Given the description of an element on the screen output the (x, y) to click on. 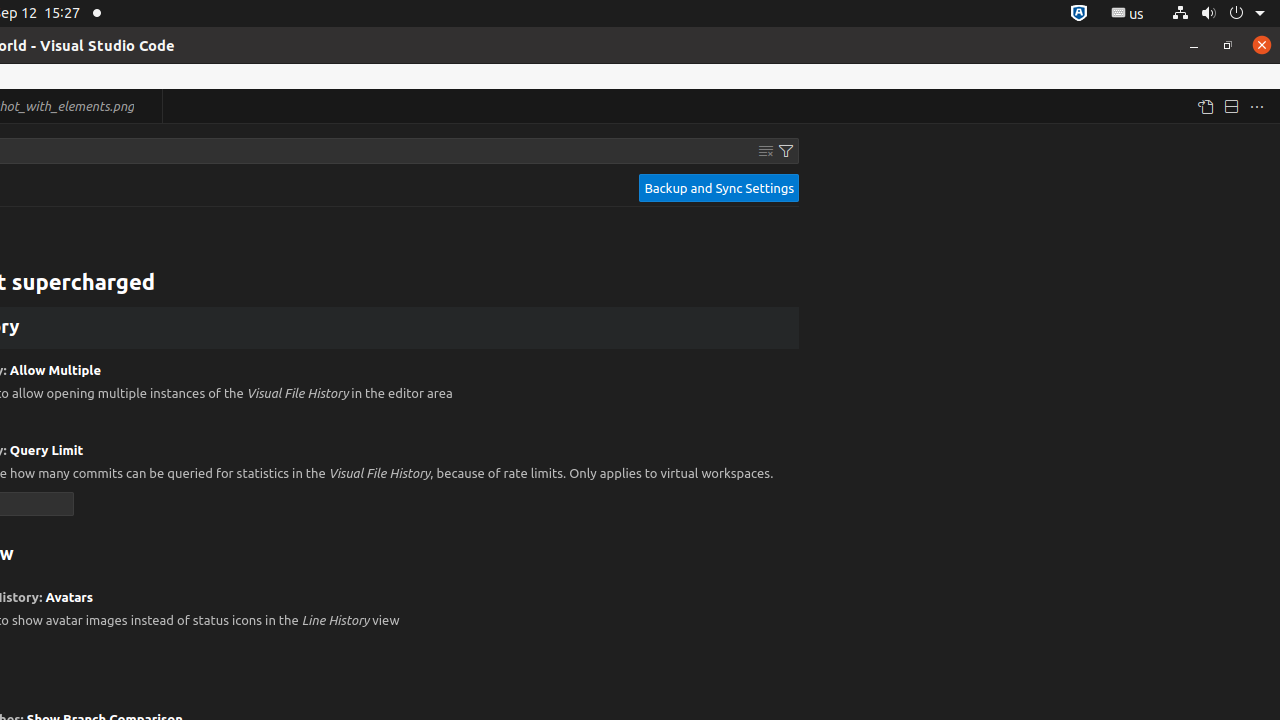
Split Editor Right (Ctrl+\) [Alt] Split Editor Down Element type: push-button (1231, 106)
Filter Settings Element type: push-button (786, 151)
More Actions... Element type: push-button (1257, 106)
Open Settings (JSON) Element type: push-button (1205, 106)
